Given the description of an element on the screen output the (x, y) to click on. 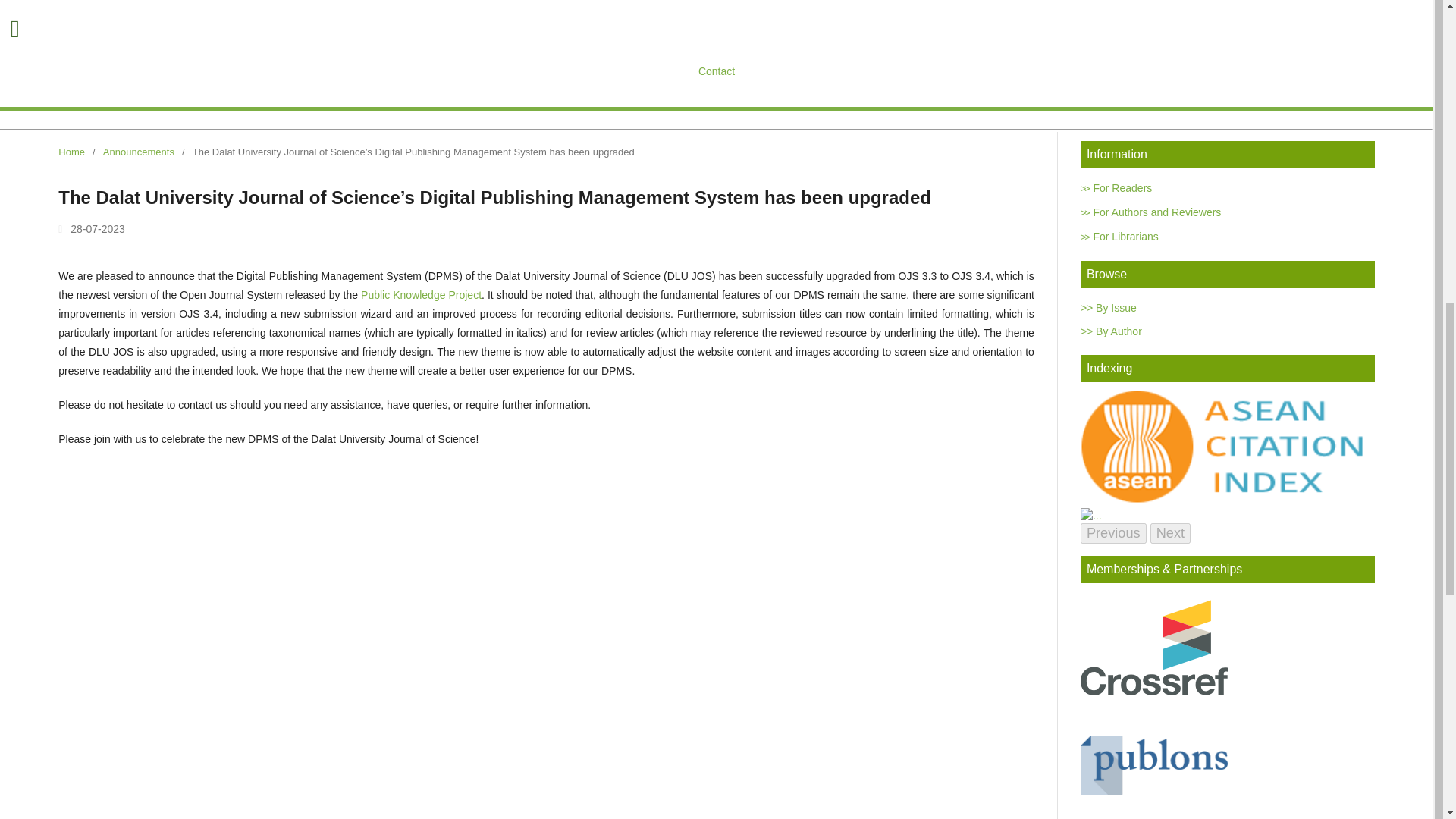
For Authors and Reviewers (1150, 212)
For Readers (1115, 187)
Announcements (138, 151)
Home (71, 151)
Public Knowledge Project (421, 295)
For Librarians (1119, 236)
